Given the description of an element on the screen output the (x, y) to click on. 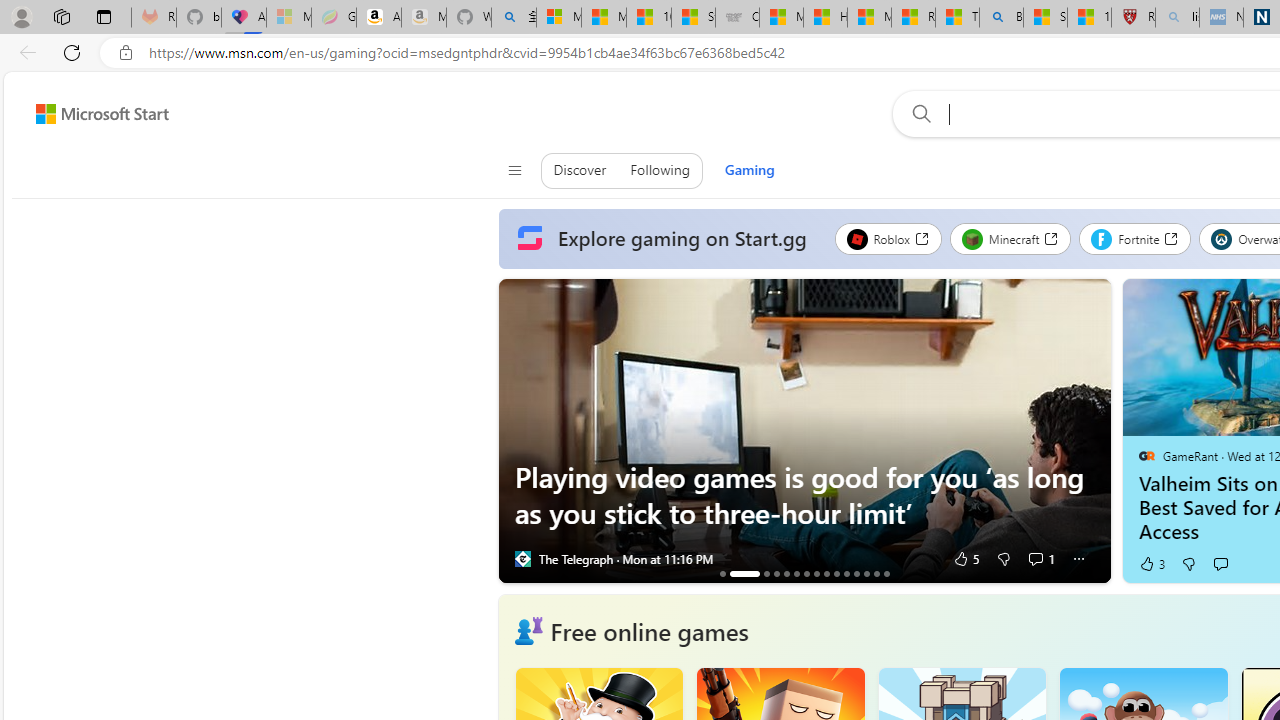
America's Three Biggest Addictions (722, 573)
Stocks - MSN (693, 17)
Start the conversation (1220, 564)
Microsoft Start (101, 113)
View comments 1 Comment (1035, 558)
AutomationID: tab_nativead-infopane-11 (846, 573)
Discover (580, 170)
AutomationID: tab_nativead-resinfopane-6 (796, 573)
View comments 1 Comment (1040, 558)
How Rust Can Be Played Solo (886, 573)
Previous slide (512, 431)
